Given the description of an element on the screen output the (x, y) to click on. 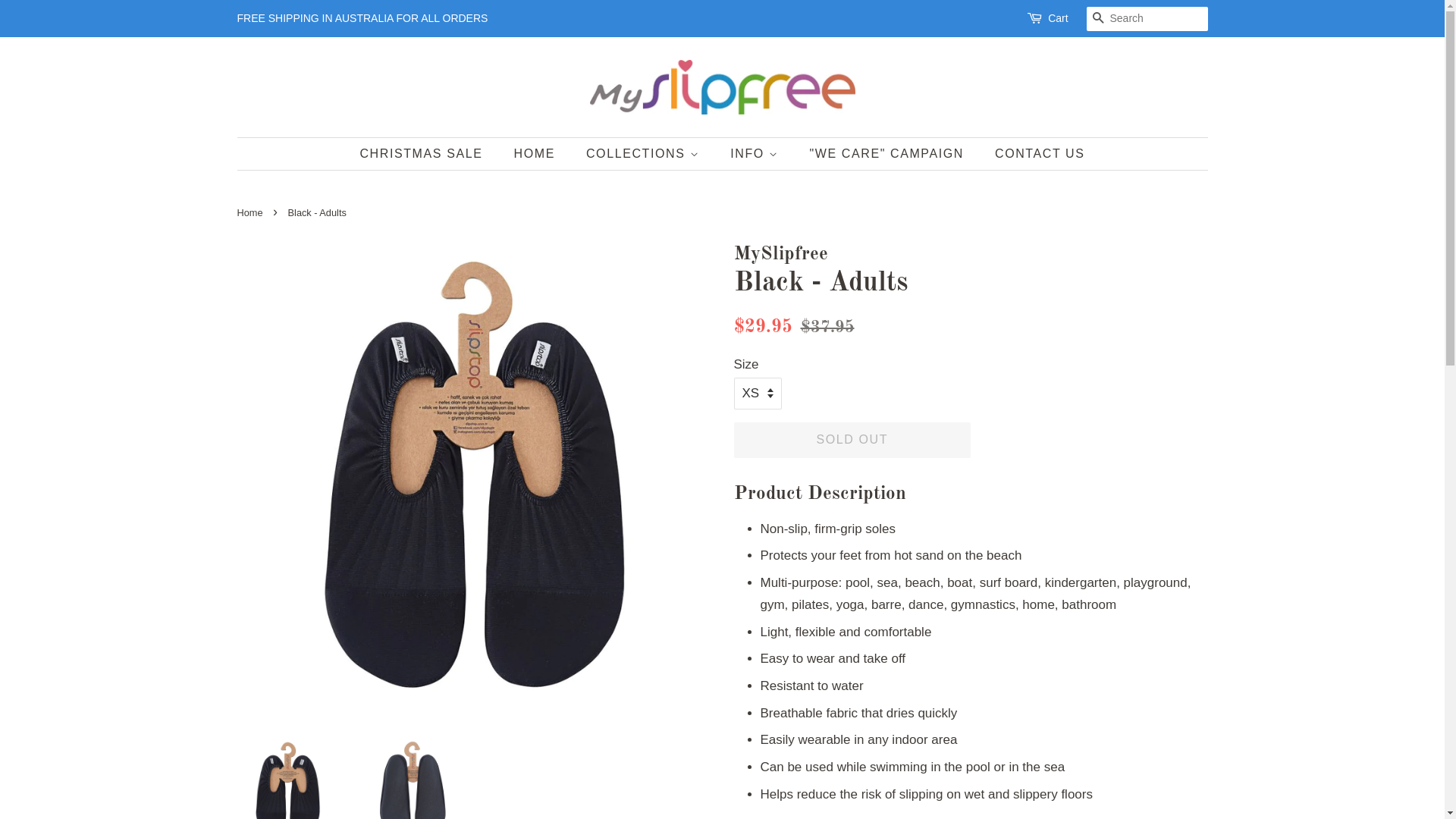
FREE SHIPPING IN AUSTRALIA FOR ALL ORDERS Element type: text (361, 18)
CHRISTMAS SALE Element type: text (428, 153)
"WE CARE" CAMPAIGN Element type: text (888, 153)
SOLD OUT Element type: text (852, 440)
INFO Element type: text (755, 153)
SEARCH Element type: text (1097, 18)
Home Element type: text (251, 212)
HOME Element type: text (536, 153)
Cart Element type: text (1057, 18)
COLLECTIONS Element type: text (644, 153)
CONTACT US Element type: text (1034, 153)
